Given the description of an element on the screen output the (x, y) to click on. 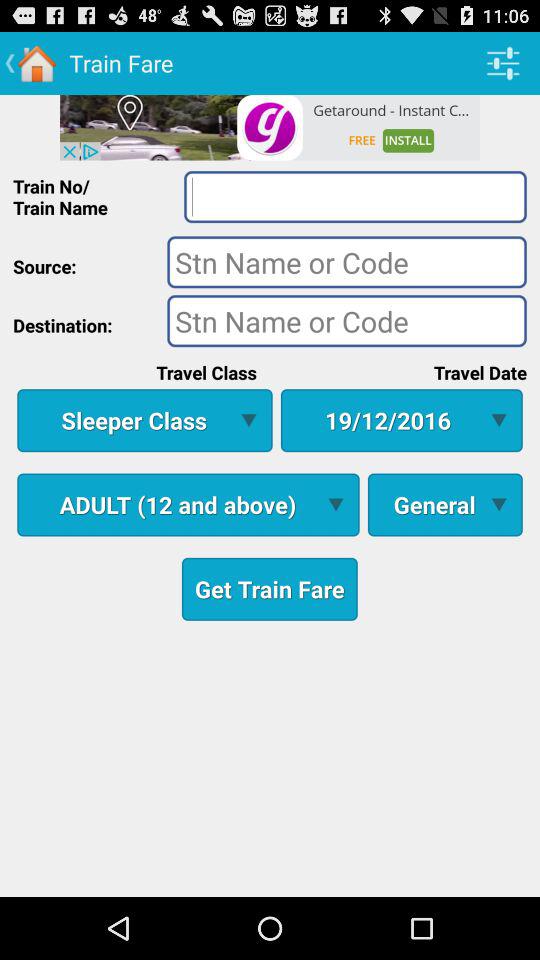
free add from gateround (270, 127)
